Given the description of an element on the screen output the (x, y) to click on. 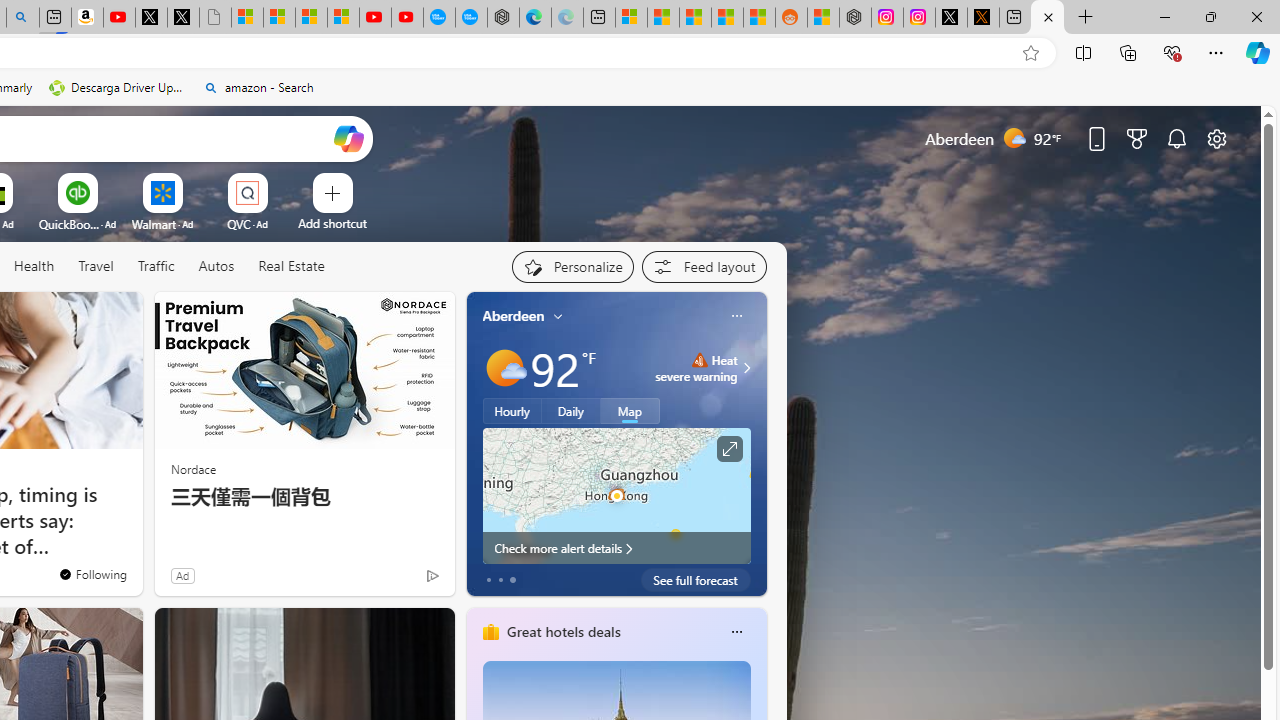
Gloom - YouTube (374, 17)
Feed settings (703, 266)
Traffic (155, 265)
Personalize your feed" (571, 266)
Notifications (1176, 138)
Nordace - Nordace has arrived Hong Kong (502, 17)
Nordace - Summer Adventures 2024 (855, 17)
Class: weather-arrow-glyph (746, 367)
Descarga Driver Updater (118, 88)
